Given the description of an element on the screen output the (x, y) to click on. 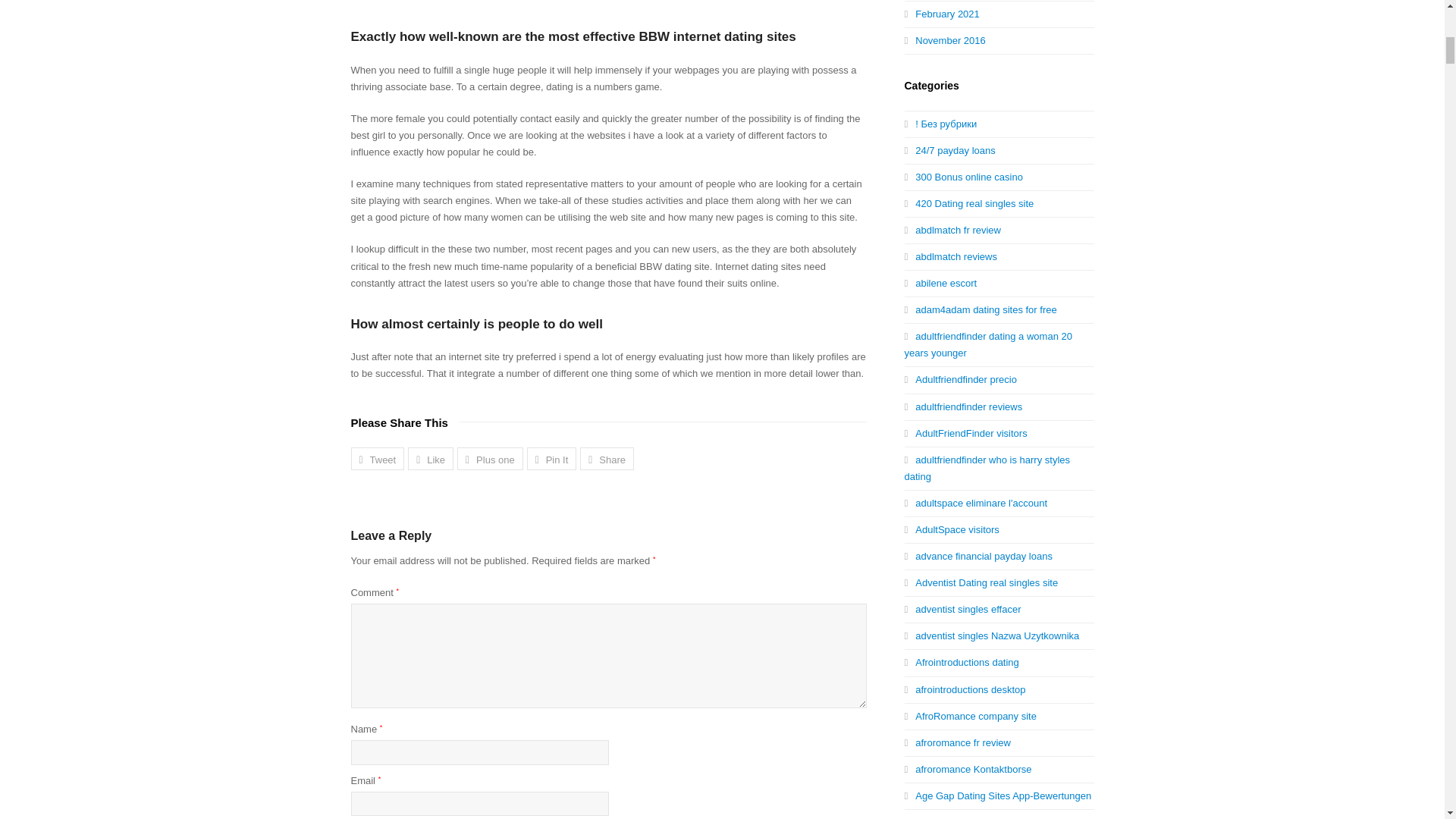
Share (606, 458)
Share on Twitter (377, 458)
Share on LinkedIn (606, 458)
Plus one (489, 458)
Like (429, 458)
Pin It (551, 458)
Share on Pinterest (551, 458)
Share on Facebook (429, 458)
Tweet (377, 458)
